Given the description of an element on the screen output the (x, y) to click on. 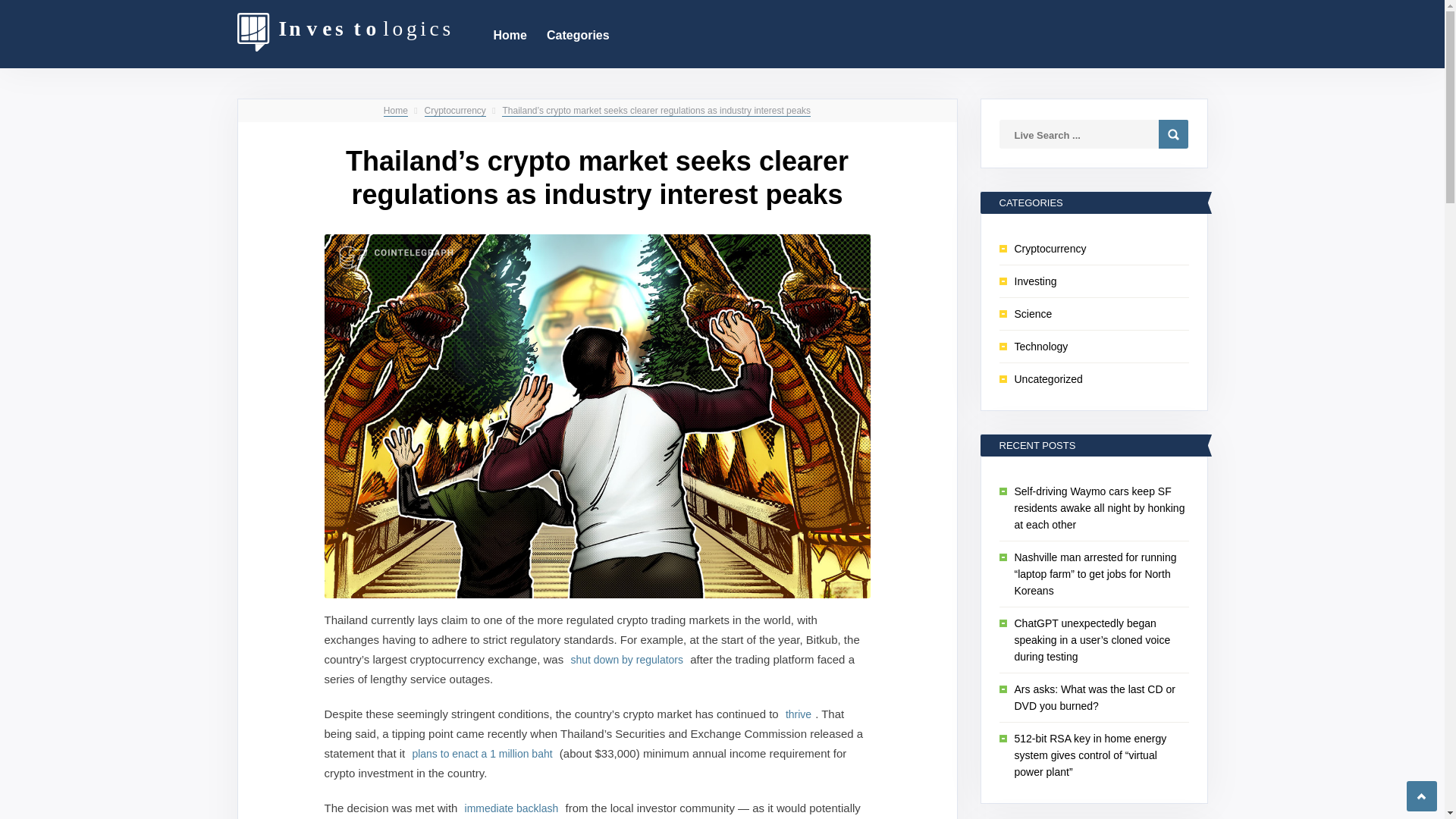
Search (1173, 133)
Home (395, 111)
Cryptocurrency (455, 111)
Categories (577, 33)
Home (509, 33)
shut down by regulators (626, 658)
thrive (798, 713)
immediate backlash (511, 807)
View all posts in Cryptocurrency (455, 111)
plans to enact a 1 million baht (481, 753)
